Given the description of an element on the screen output the (x, y) to click on. 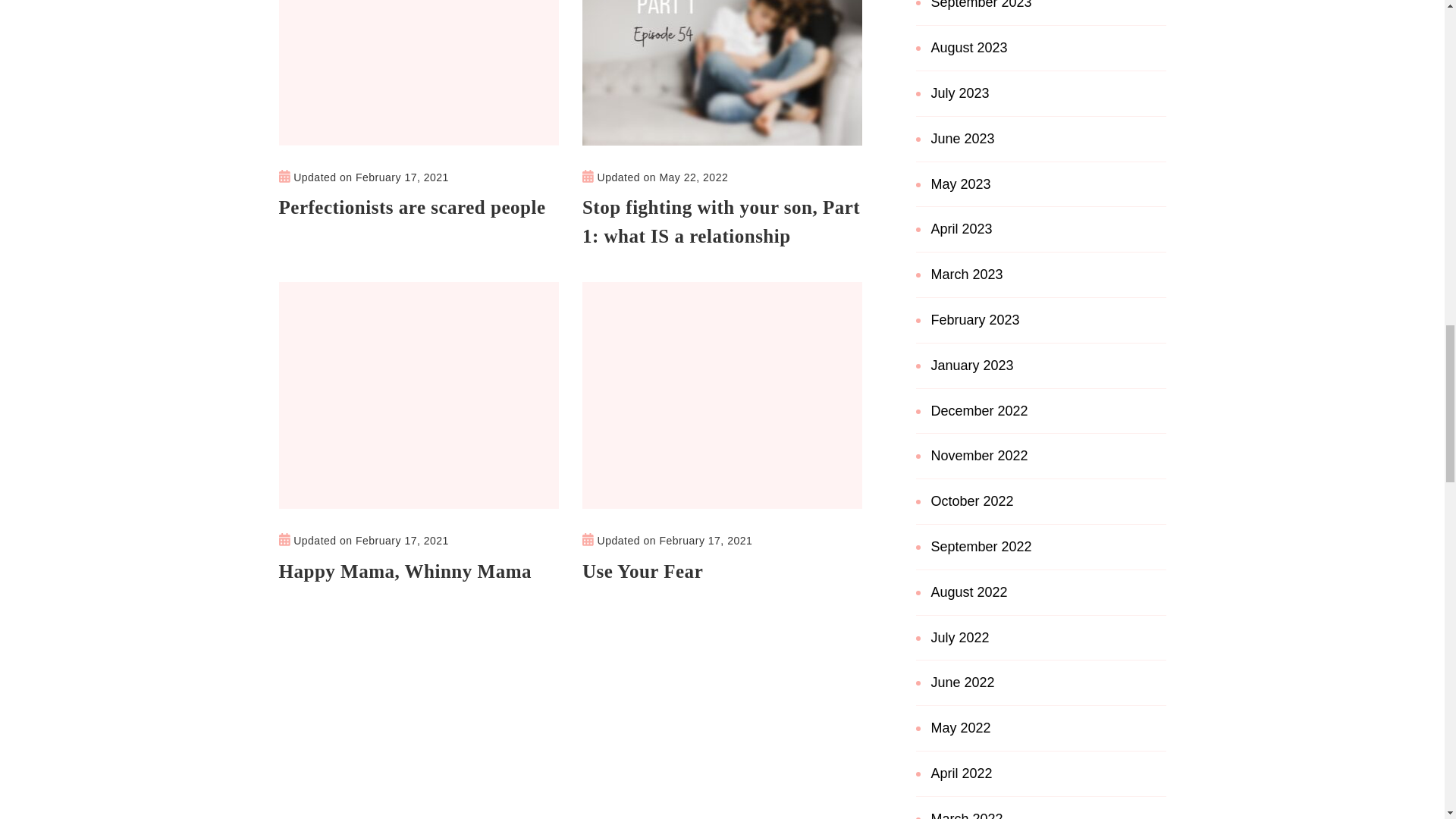
May 22, 2022 (693, 177)
Perfectionists are scared people (412, 207)
Stop fighting with your son, Part 1: what IS a relationship (722, 221)
February 17, 2021 (401, 177)
